Given the description of an element on the screen output the (x, y) to click on. 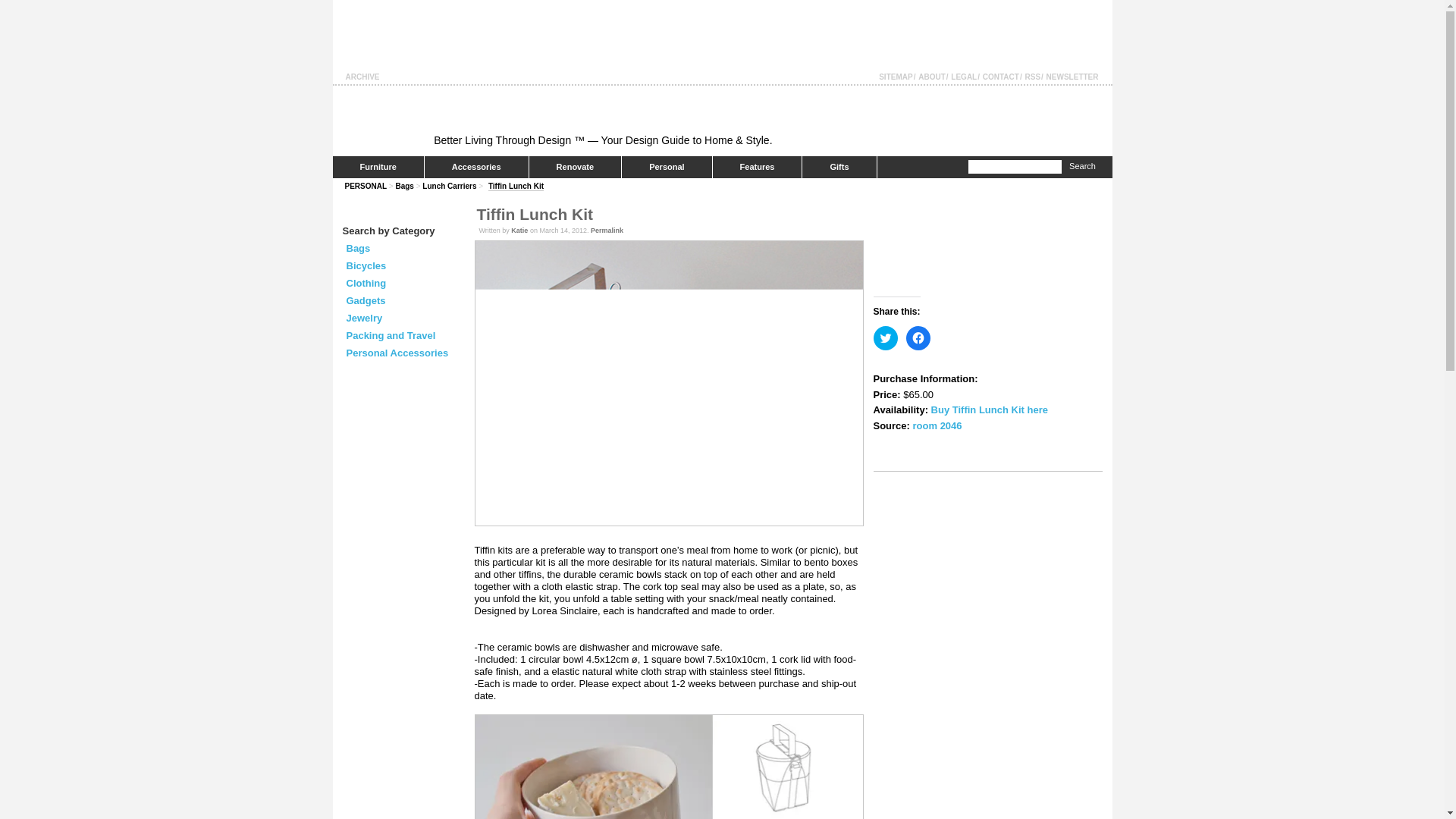
PERSONAL (365, 185)
NEWSLETTER (1072, 76)
Features (757, 167)
bltd (381, 122)
Accessories (476, 167)
Lunch Carriers (449, 185)
Go to Tiffin Lunch Kit. (515, 185)
Bags (357, 247)
CONTACT (1000, 76)
Gifts (839, 167)
Personal (666, 167)
Posts by Katie (519, 230)
Clothing (365, 283)
Gadgets (365, 300)
Click to share on Twitter (885, 337)
